Given the description of an element on the screen output the (x, y) to click on. 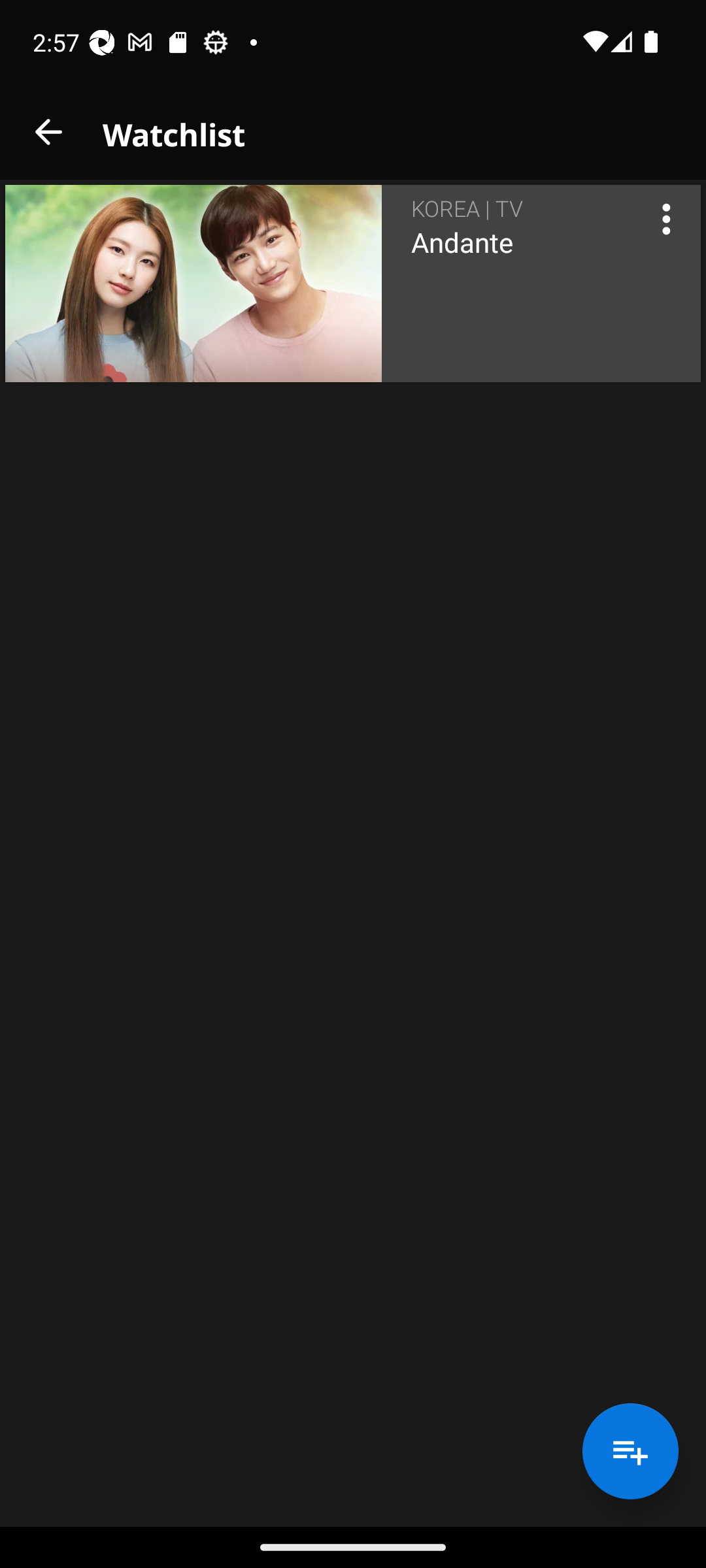
close_button (48, 131)
resource_cell KOREA | TV Andante (353, 283)
